Given the description of an element on the screen output the (x, y) to click on. 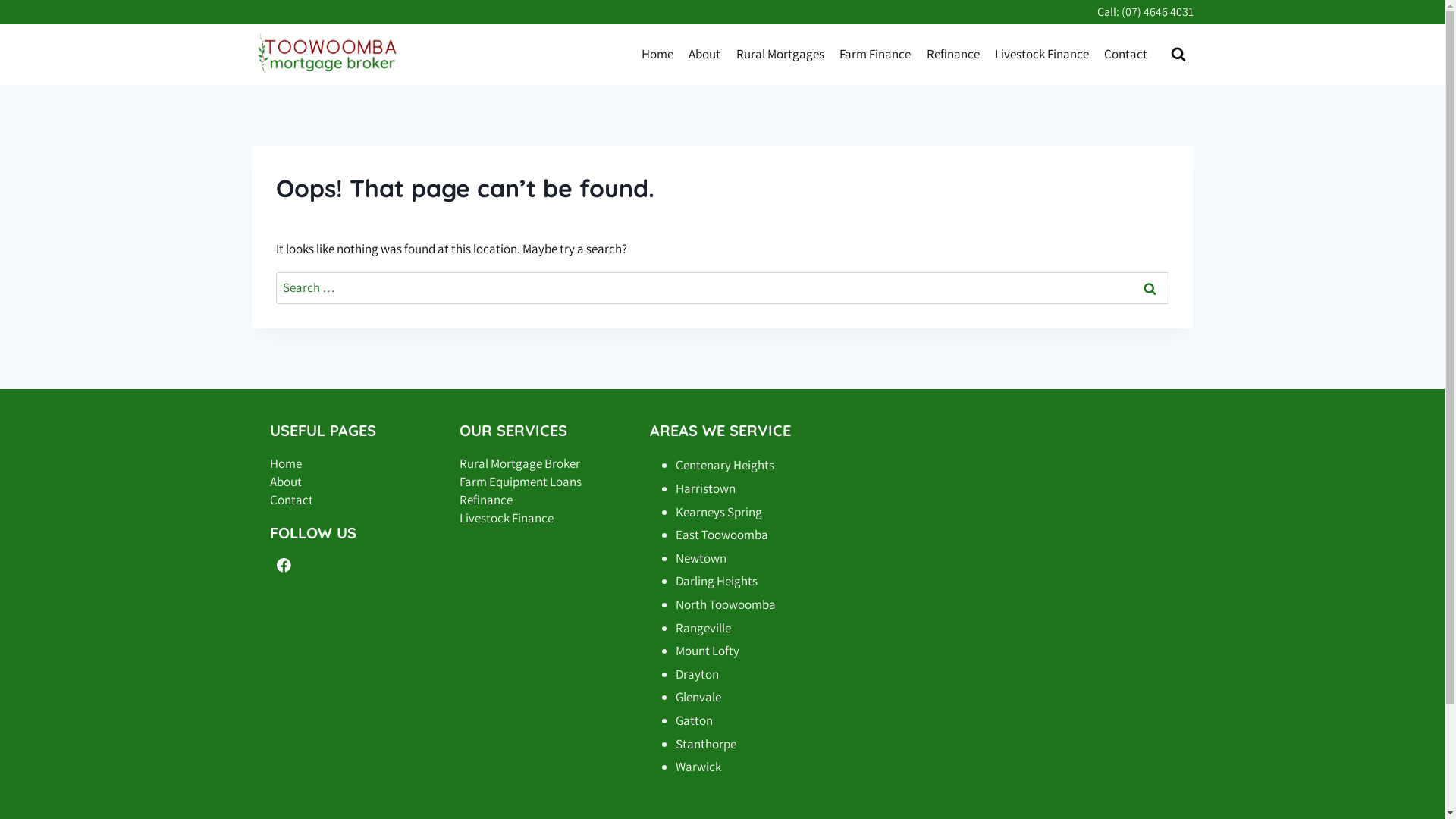
Refinance Element type: text (485, 499)
Gatton Element type: text (693, 720)
Drayton Element type: text (696, 673)
Centenary Heights Element type: text (724, 464)
Stanthorpe Element type: text (705, 743)
Rangeville Element type: text (703, 627)
Rural Mortgage Broker Element type: text (519, 463)
East Toowoomba Element type: text (721, 534)
Harristown Element type: text (705, 488)
Contact Element type: text (291, 499)
Search Element type: text (1150, 288)
Refinance Element type: text (952, 54)
Glenvale Element type: text (698, 696)
Farm Finance Element type: text (874, 54)
(07) 4646 4031 Element type: text (1156, 11)
Livestock Finance Element type: text (506, 517)
North Toowoomba Element type: text (725, 604)
Rural Mortgages Element type: text (779, 54)
Newtown Element type: text (700, 557)
Kearneys Spring Element type: text (718, 511)
Livestock Finance Element type: text (1041, 54)
Contact Element type: text (1125, 54)
About Element type: text (704, 54)
Darling Heights Element type: text (716, 580)
About Element type: text (285, 481)
Home Element type: text (285, 463)
Warwick Element type: text (698, 766)
Mount Lofty Element type: text (707, 650)
Farm Equipment Loans Element type: text (520, 481)
Home Element type: text (656, 54)
